Given the description of an element on the screen output the (x, y) to click on. 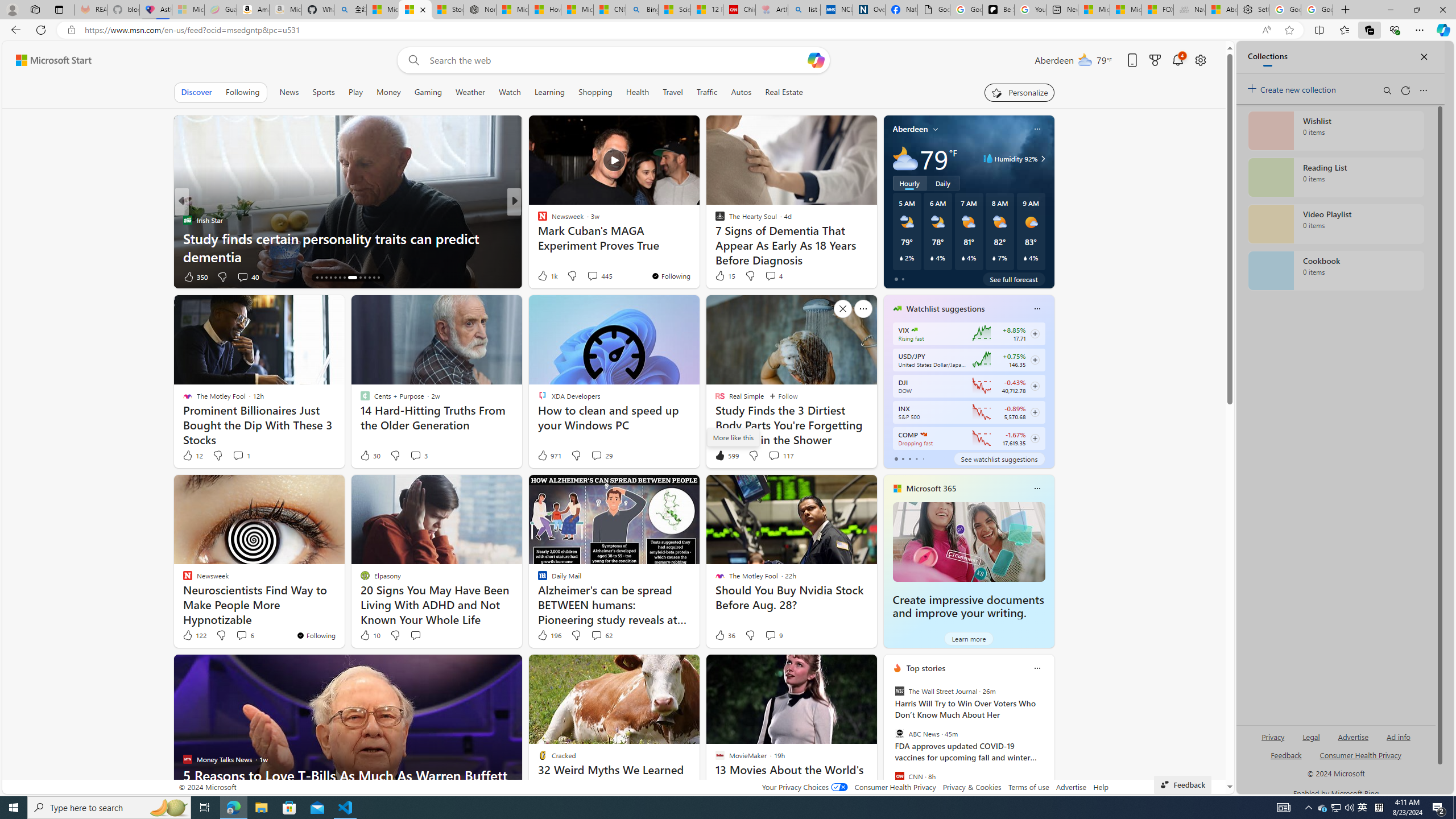
12 Like (192, 455)
FOX News (537, 219)
PC World (537, 219)
